Given the description of an element on the screen output the (x, y) to click on. 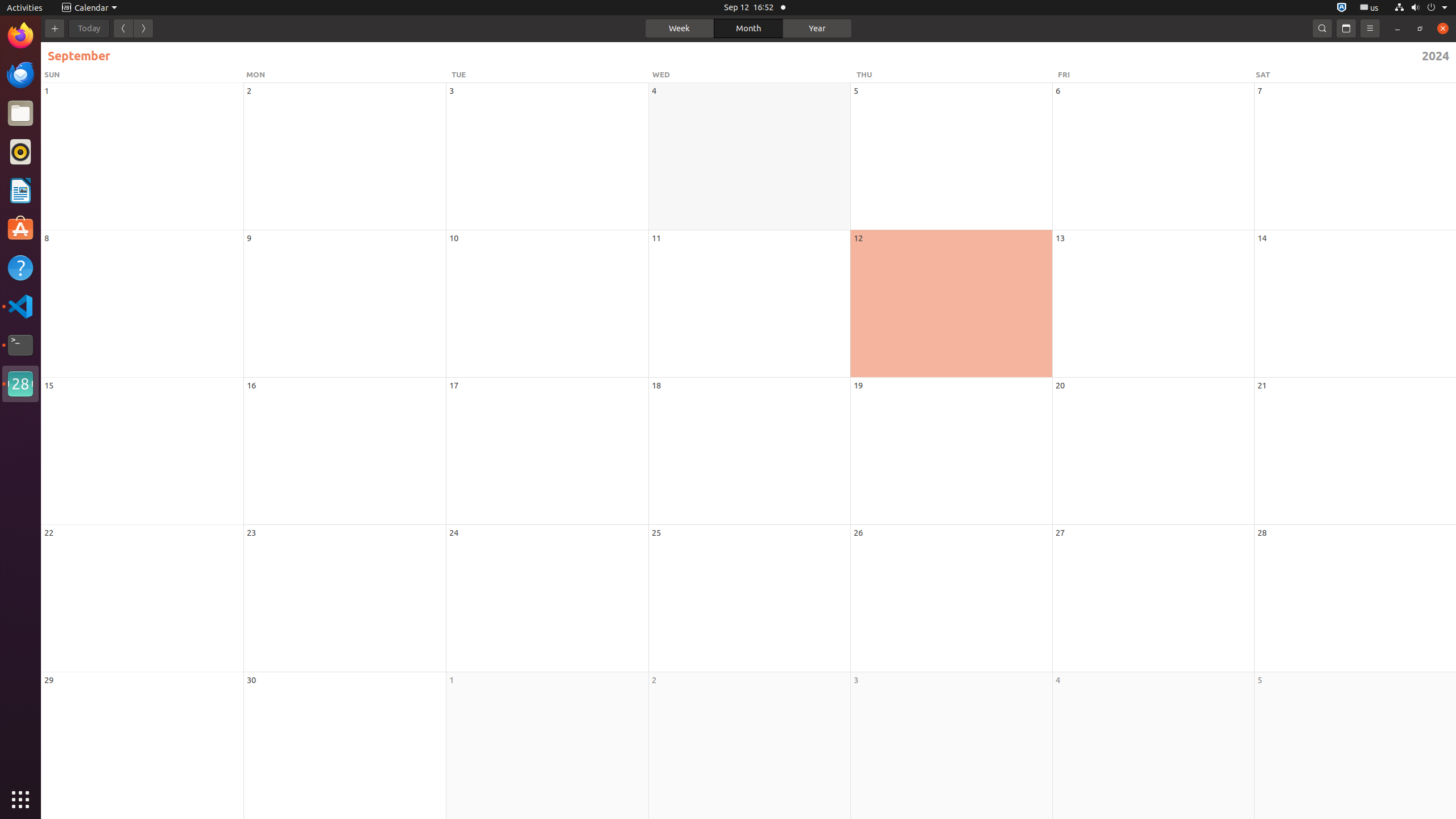
11 Element type: label (655, 237)
Terminal Element type: push-button (20, 344)
WED Element type: label (752, 74)
26 Element type: label (857, 532)
